Given the description of an element on the screen output the (x, y) to click on. 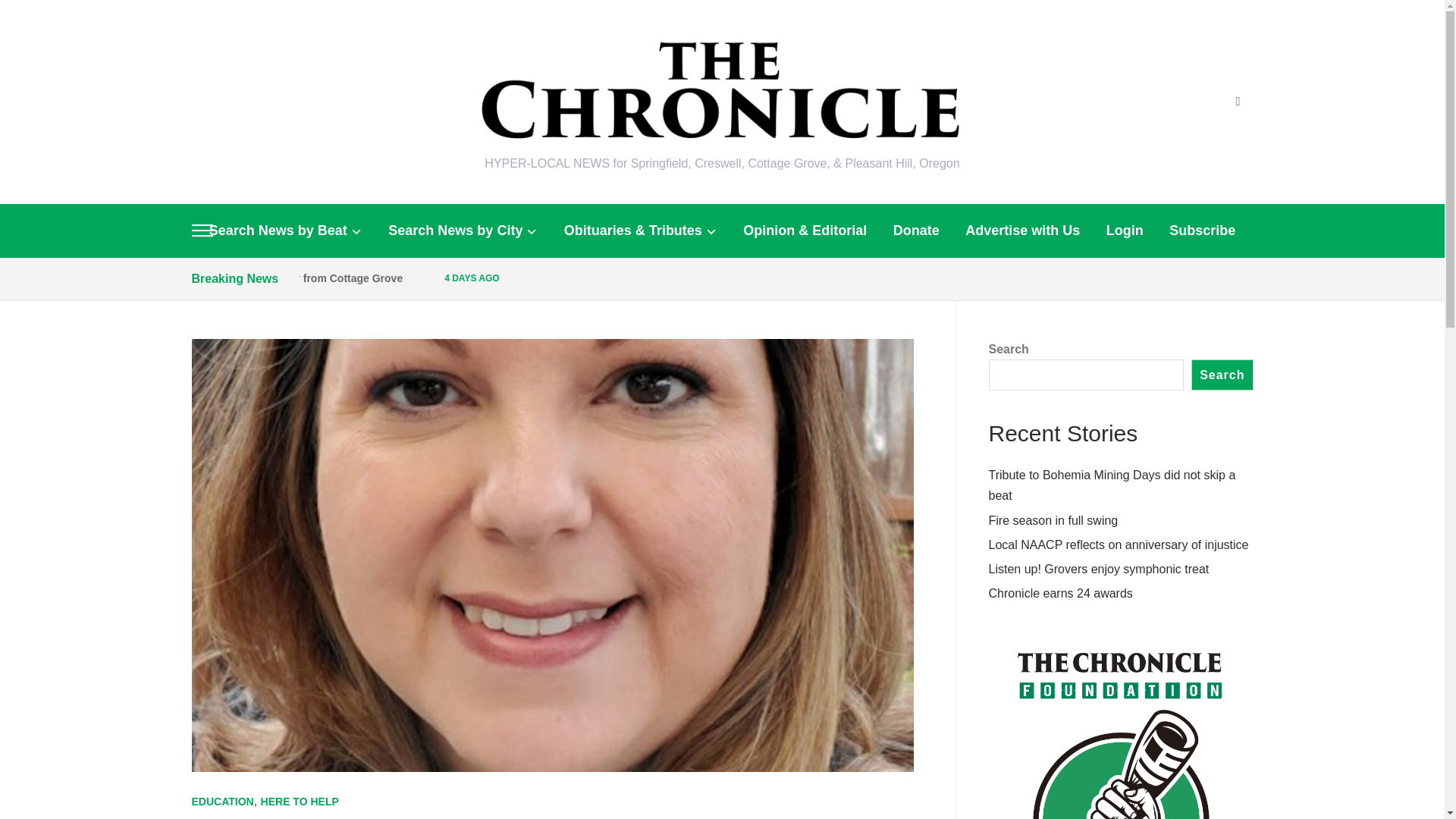
Update: SVdP withdraws offer from Cottage Grove (275, 277)
Search (1237, 101)
